Given the description of an element on the screen output the (x, y) to click on. 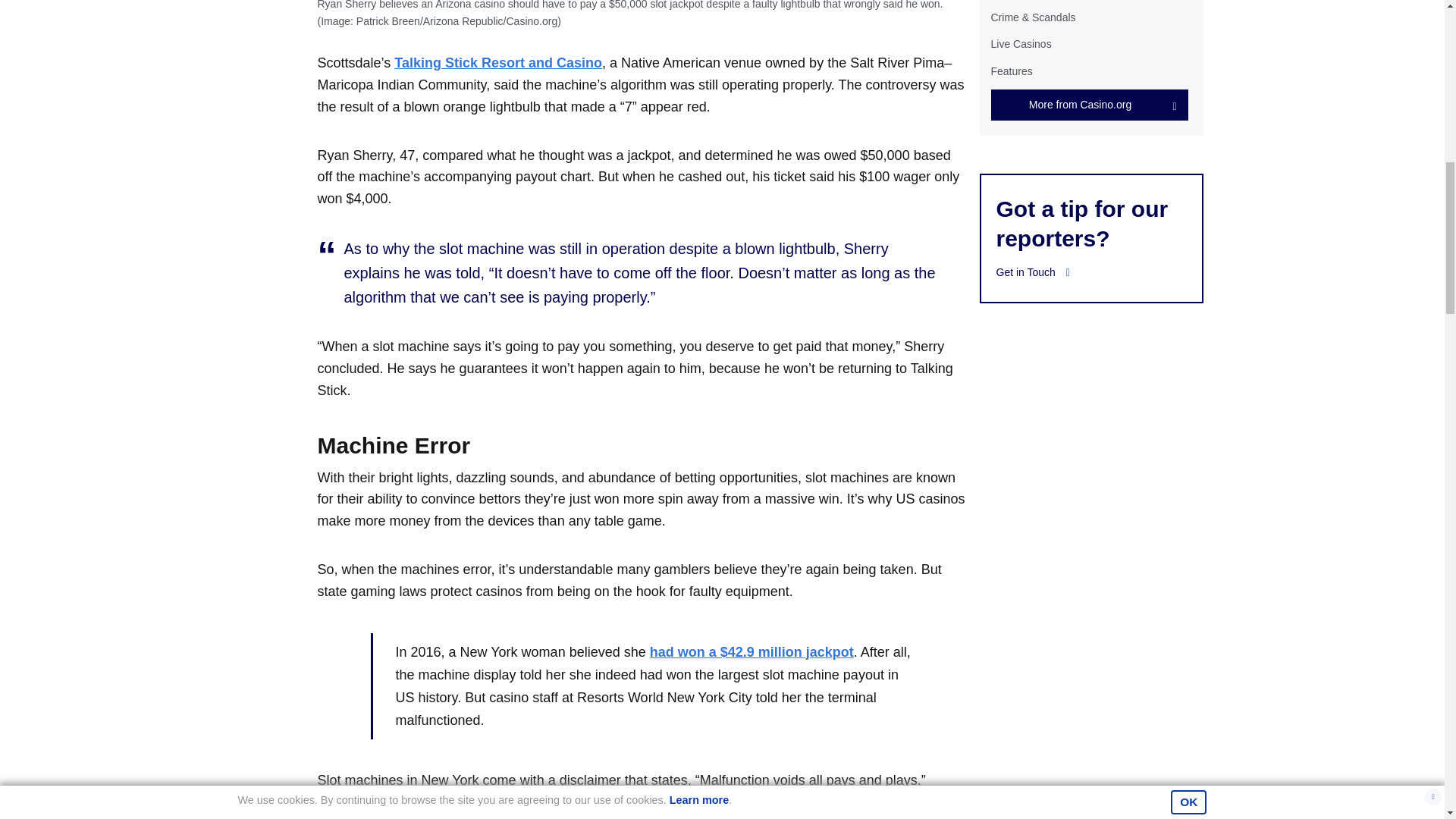
Features (1011, 70)
Live Casinos (1020, 43)
Talking Stick Resort and Casino (498, 62)
